Given the description of an element on the screen output the (x, y) to click on. 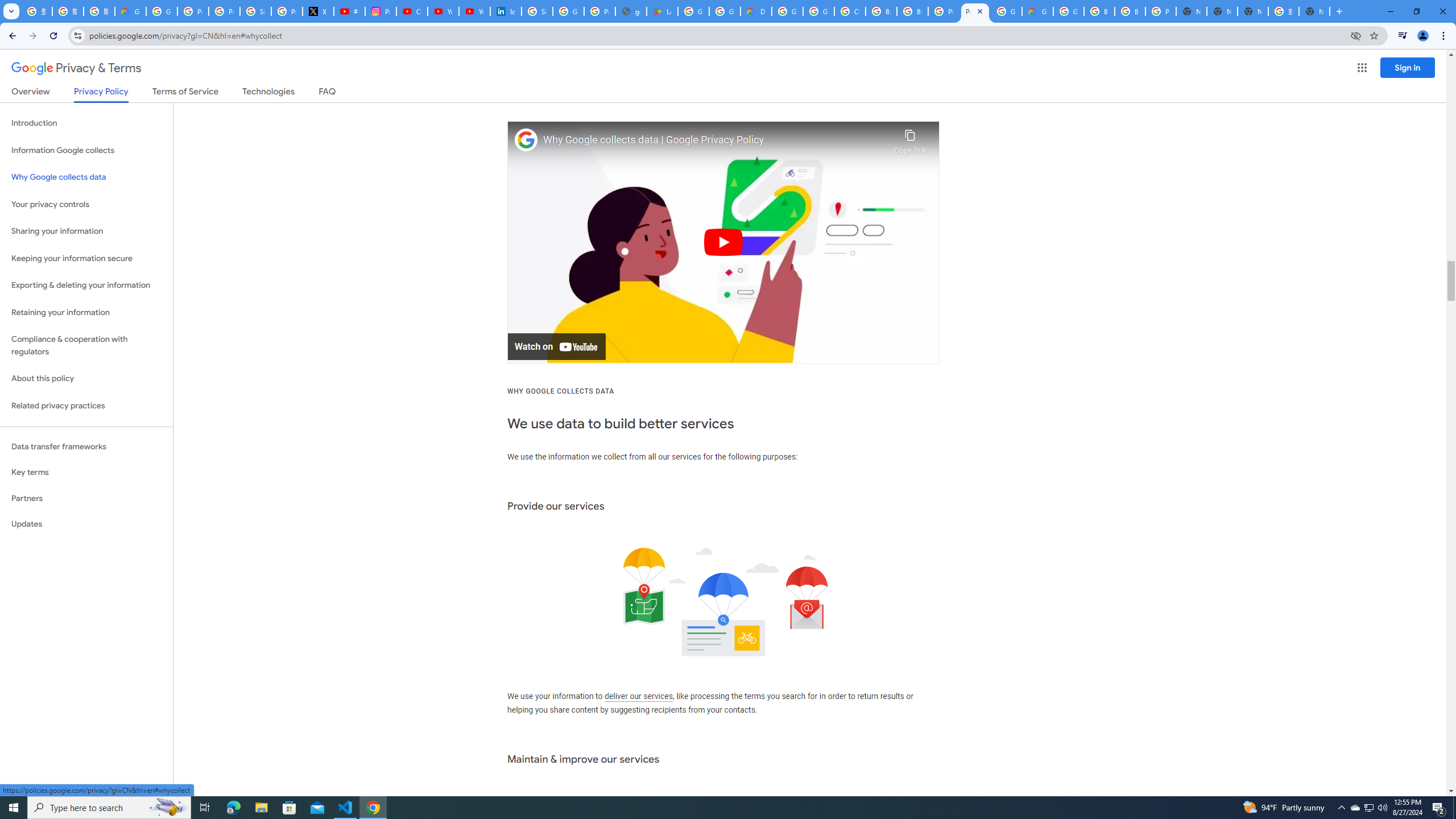
Partners (86, 497)
Technologies (268, 93)
Control your music, videos, and more (1402, 35)
Exporting & deleting your information (86, 284)
X (318, 11)
Watch on YouTube (556, 346)
New Tab (1314, 11)
